Given the description of an element on the screen output the (x, y) to click on. 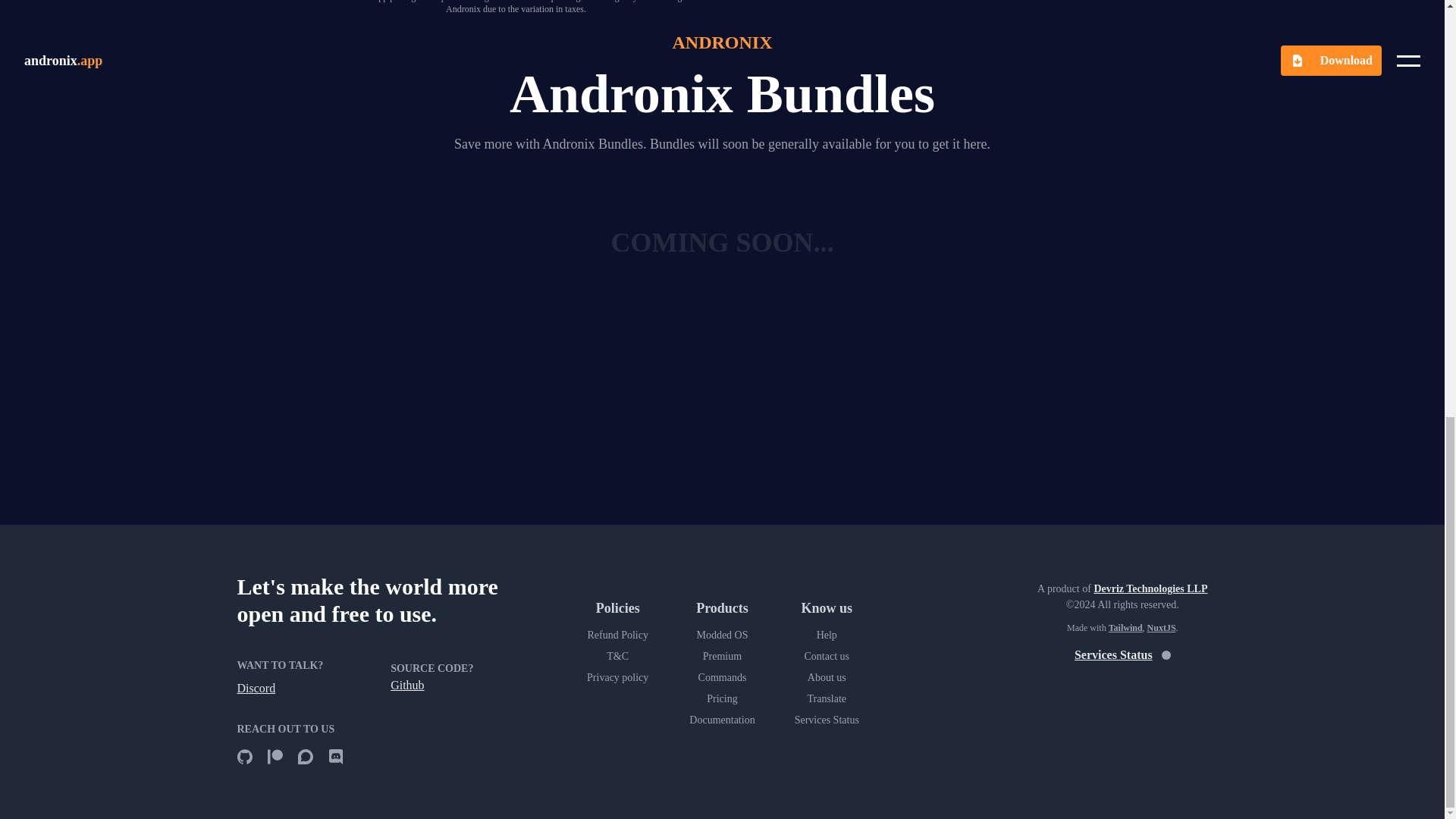
Services Status (826, 720)
About us (826, 677)
Modded OS (721, 635)
NuxtJS (1161, 627)
Translate (826, 698)
A product of Devriz Technologies LLP (1121, 588)
Contact us (826, 656)
Commands (721, 677)
Premium (721, 656)
Documentation (721, 720)
